Given the description of an element on the screen output the (x, y) to click on. 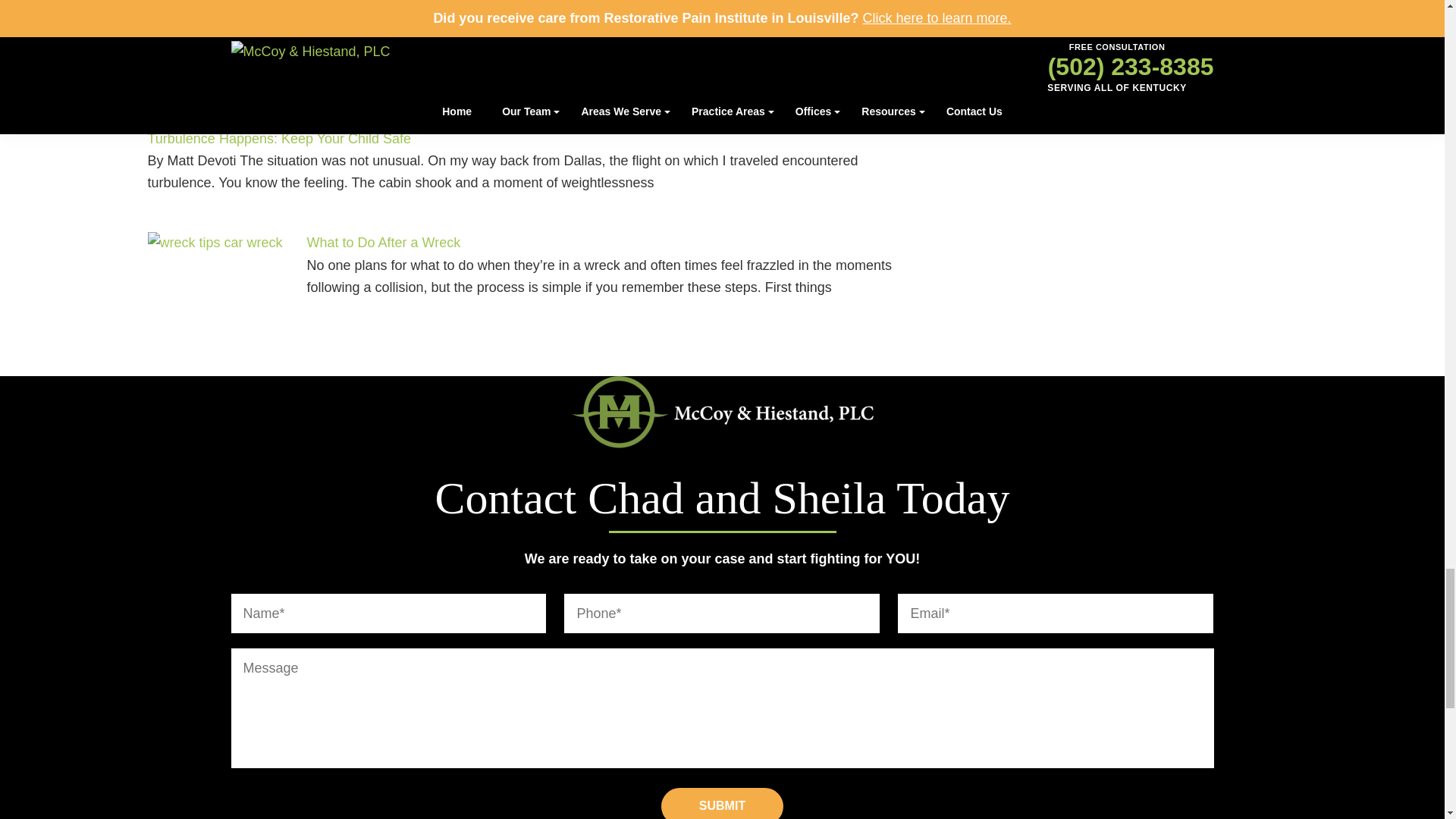
Submit (722, 803)
What to Do After a Wreck (219, 288)
